Given the description of an element on the screen output the (x, y) to click on. 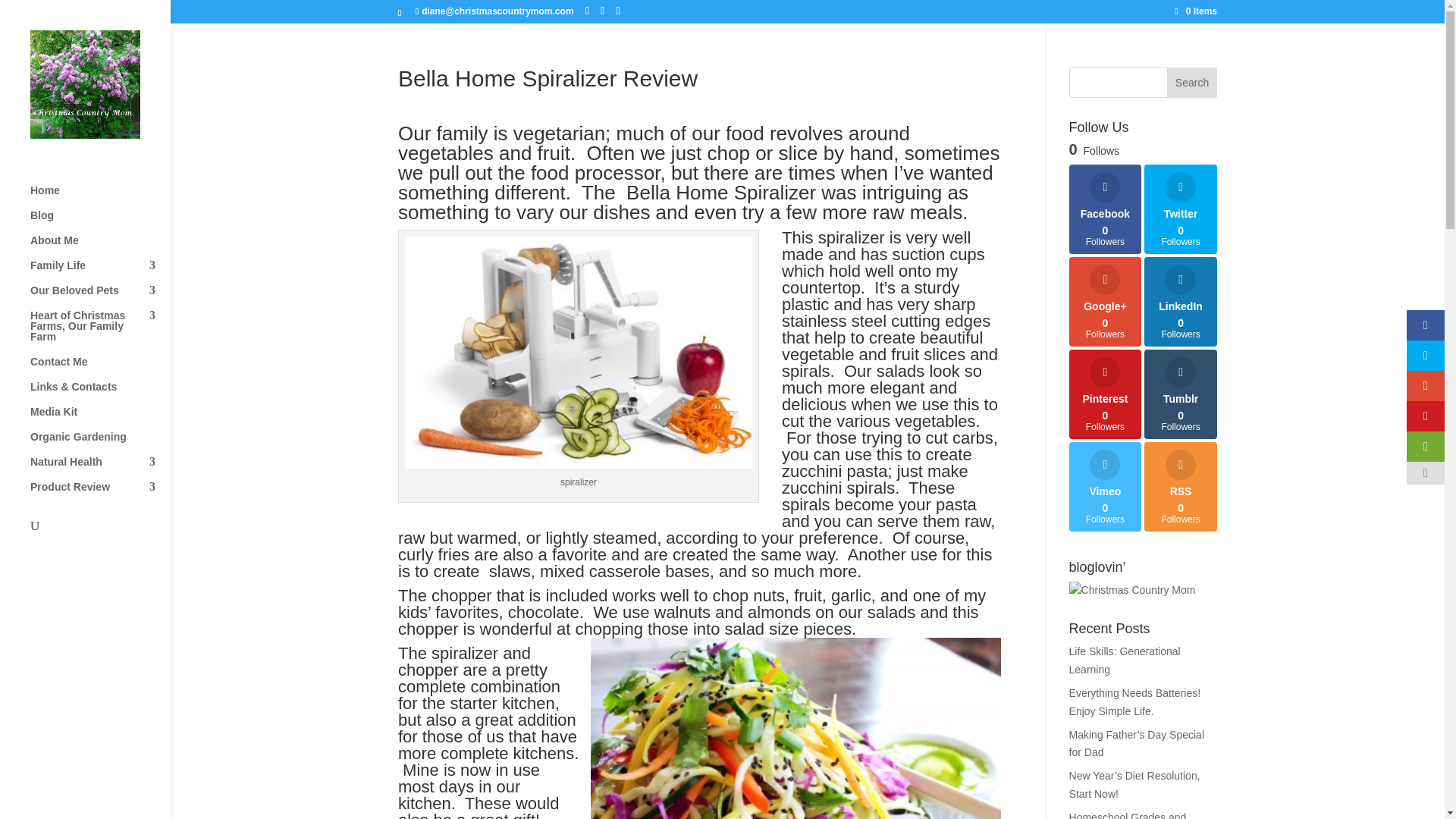
Home (100, 197)
About Me (100, 247)
Our Beloved Pets (100, 297)
Blog (100, 222)
Family Life (100, 272)
Media Kit (100, 418)
Contact Me (100, 368)
Search (1192, 82)
Heart of Christmas Farms, Our Family Farm (100, 333)
0 Items (1195, 10)
